Given the description of an element on the screen output the (x, y) to click on. 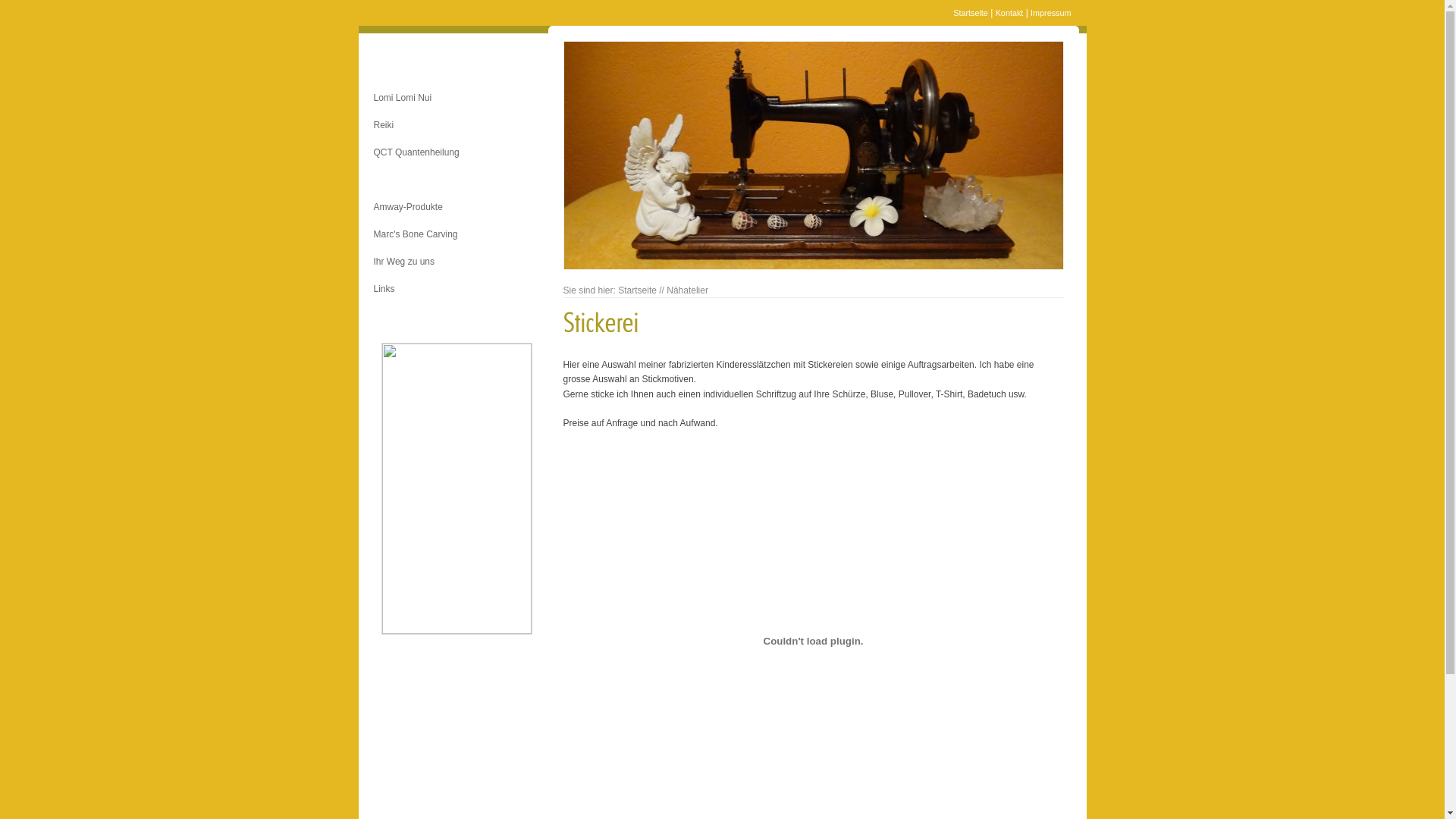
Kontakt Element type: text (1009, 12)
Startseite Element type: text (970, 12)
Amway-Produkte Element type: text (455, 208)
QCT Quantenheilung Element type: text (455, 154)
Startseite Element type: text (637, 290)
Links Element type: text (455, 290)
Marc's Bone Carving Element type: text (455, 236)
Reiki Element type: text (455, 127)
Impressum Element type: text (1050, 12)
Ihr Weg zu uns Element type: text (455, 263)
Lomi Lomi Nui Element type: text (455, 99)
